Given the description of an element on the screen output the (x, y) to click on. 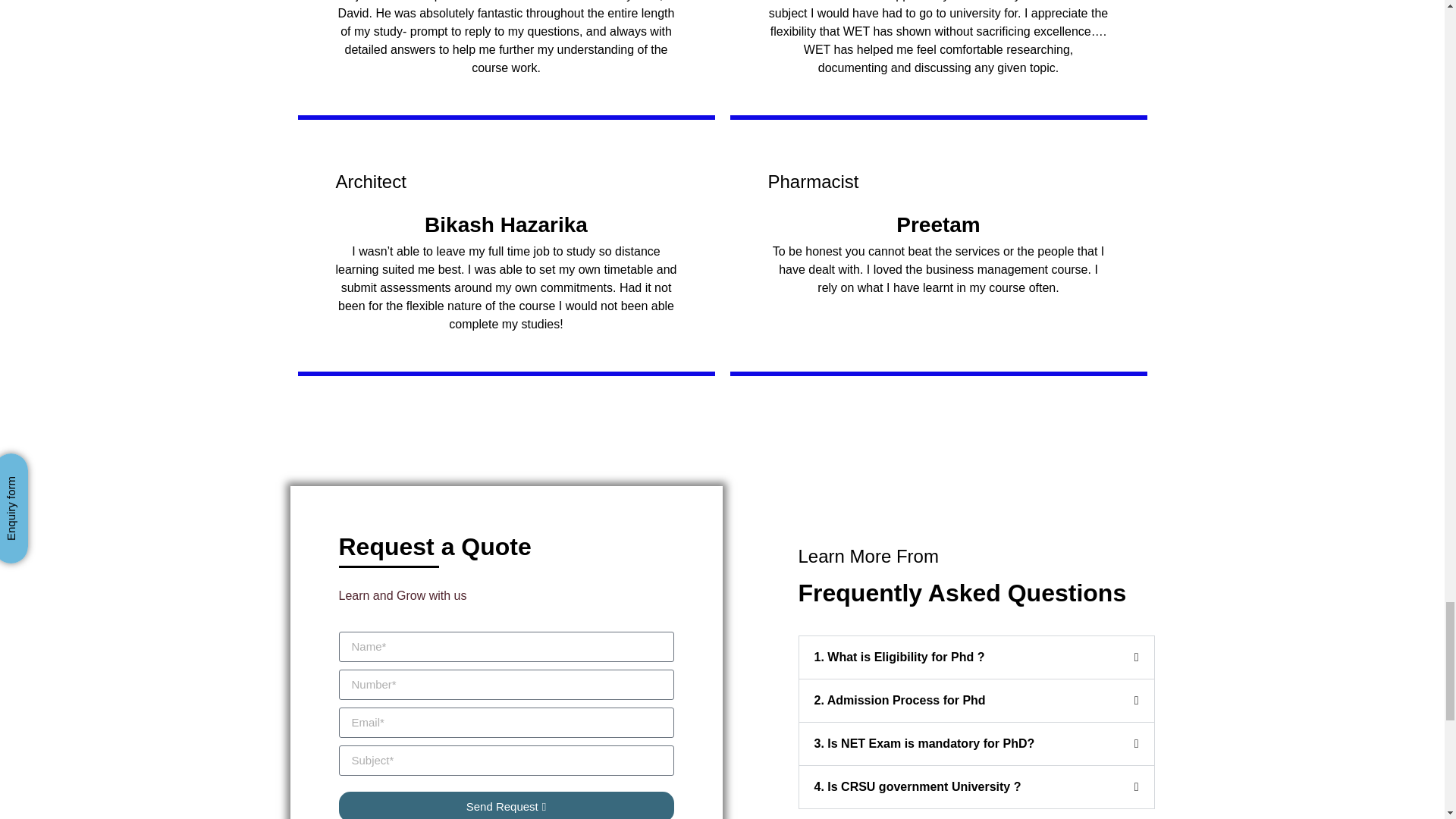
1. What is Eligibility for Phd ? (899, 656)
3. Is NET Exam is mandatory for PhD? (924, 743)
Send Request (504, 805)
2. Admission Process for Phd (899, 699)
4. Is CRSU government University ? (917, 786)
